Given the description of an element on the screen output the (x, y) to click on. 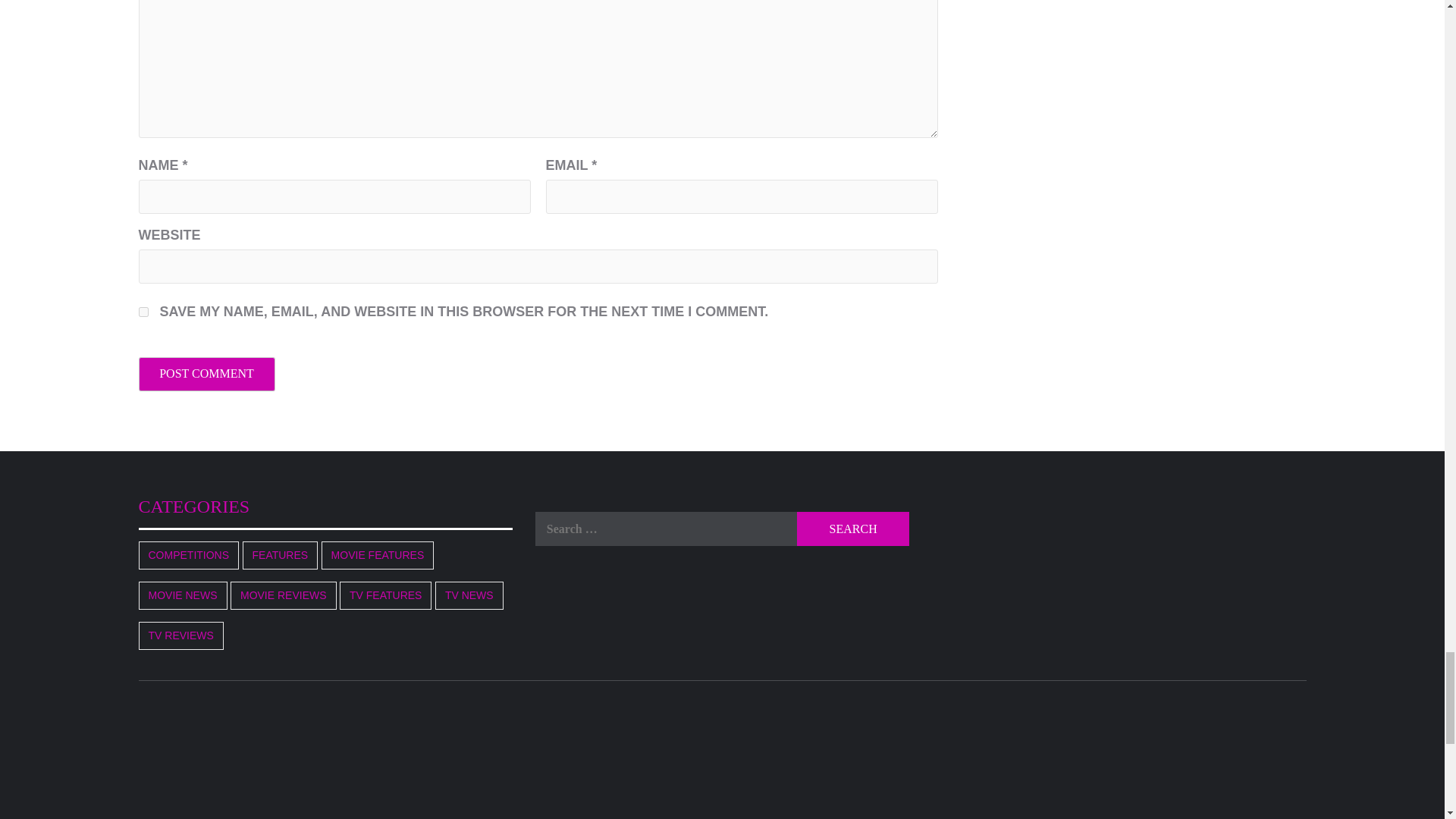
Post Comment (206, 374)
Search (852, 528)
Post Comment (206, 374)
Search (852, 528)
